Given the description of an element on the screen output the (x, y) to click on. 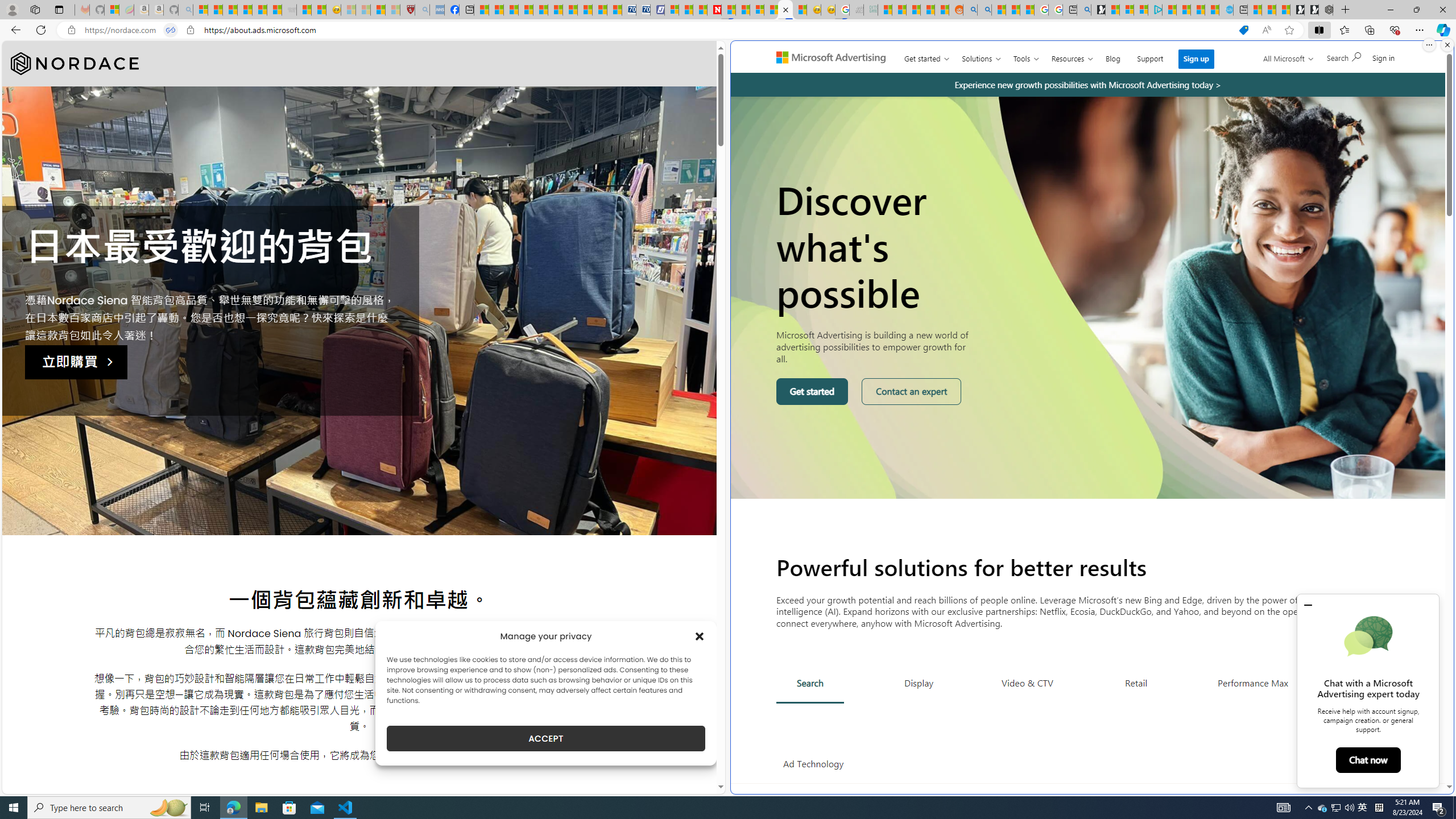
DITOGAMES AG Imprint - Sleeping (870, 9)
Back (13, 29)
Robert H. Shmerling, MD - Harvard Health (406, 9)
ACCEPT (545, 738)
Support (1149, 55)
Performance Max (1252, 682)
